Given the description of an element on the screen output the (x, y) to click on. 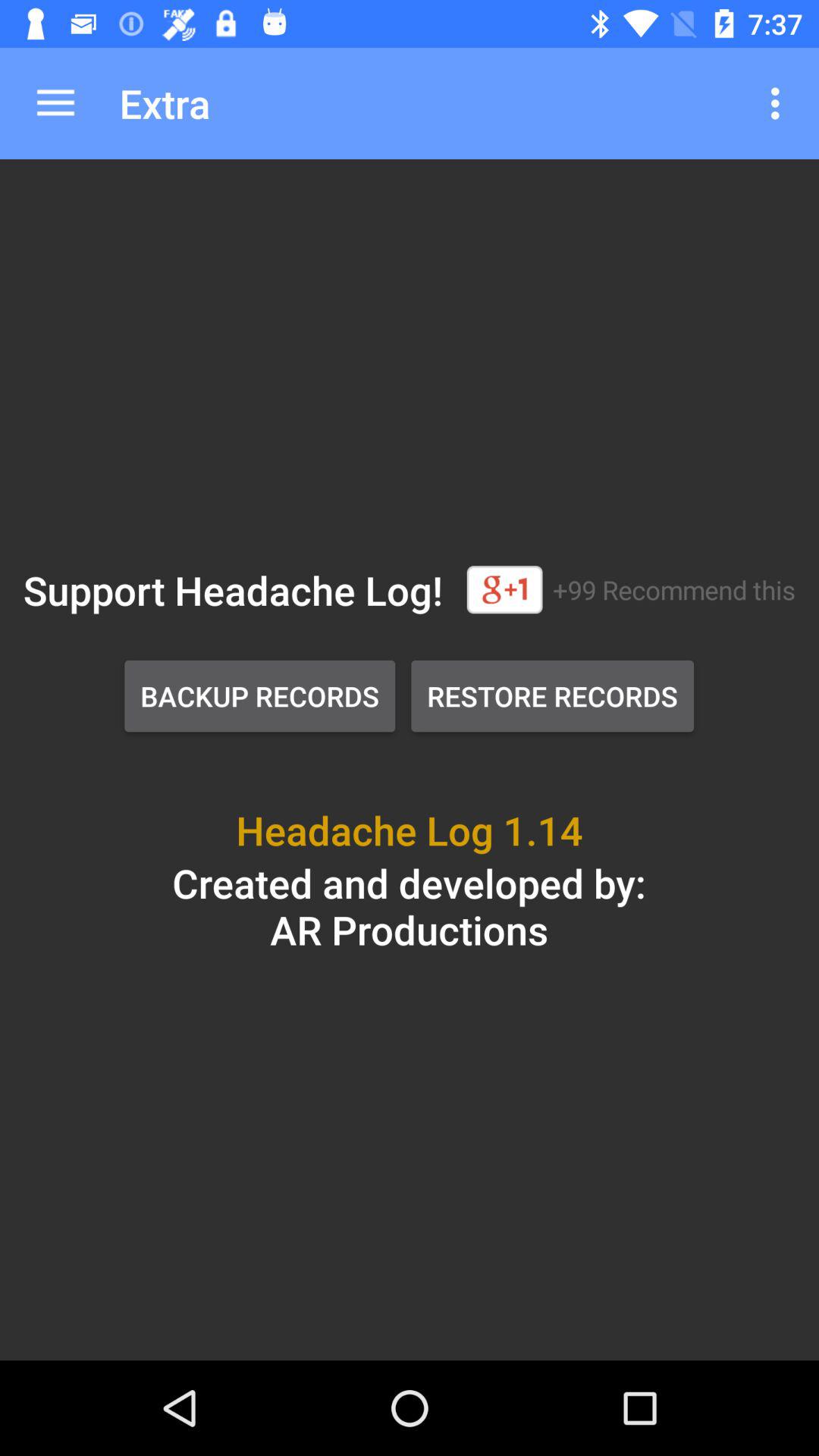
launch the app to the right of the extra app (779, 103)
